Given the description of an element on the screen output the (x, y) to click on. 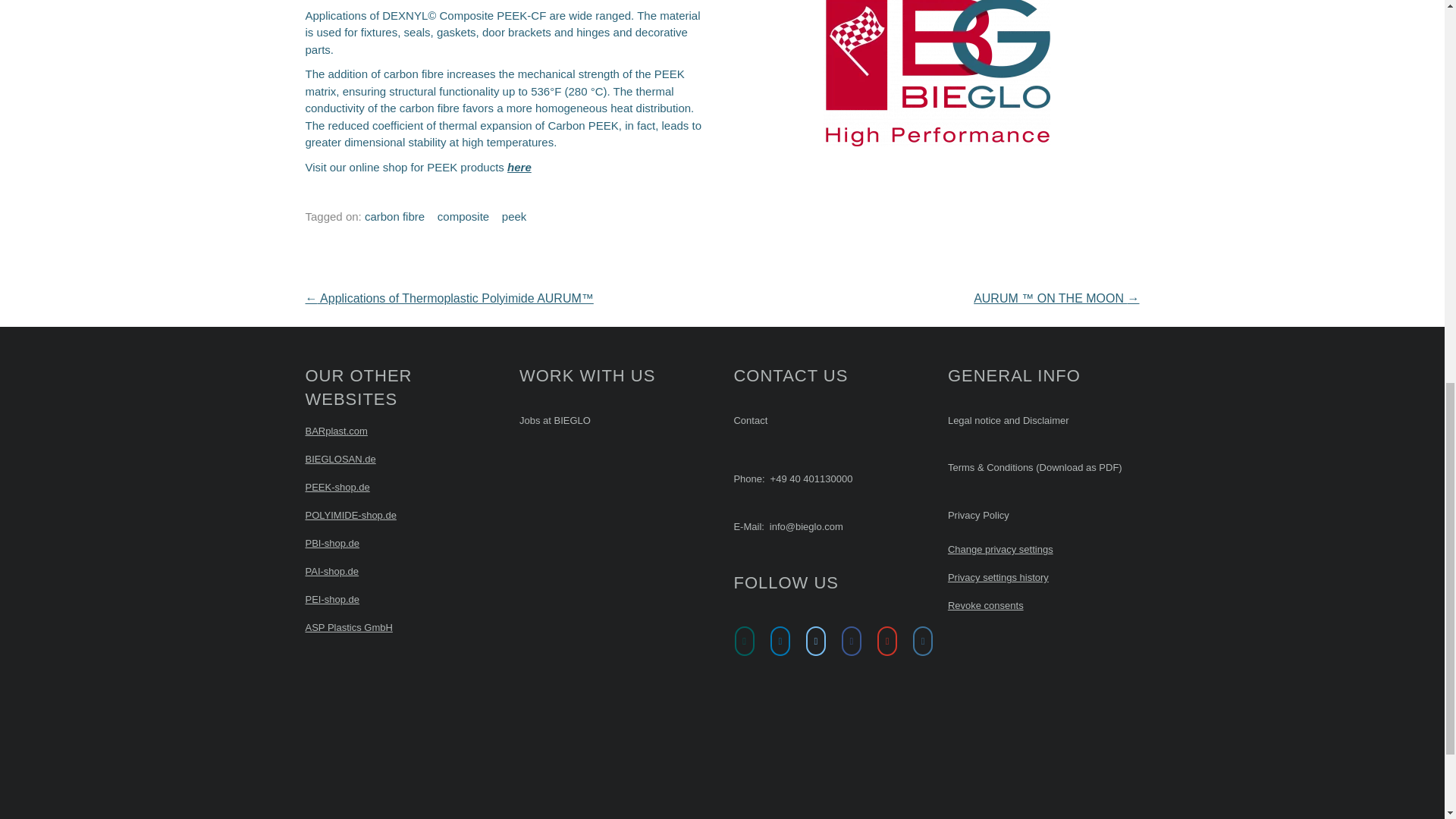
Bieglo High Performance Logo (935, 73)
Europages Logo (882, 720)
Wer liefert Was Logo (771, 724)
